Given the description of an element on the screen output the (x, y) to click on. 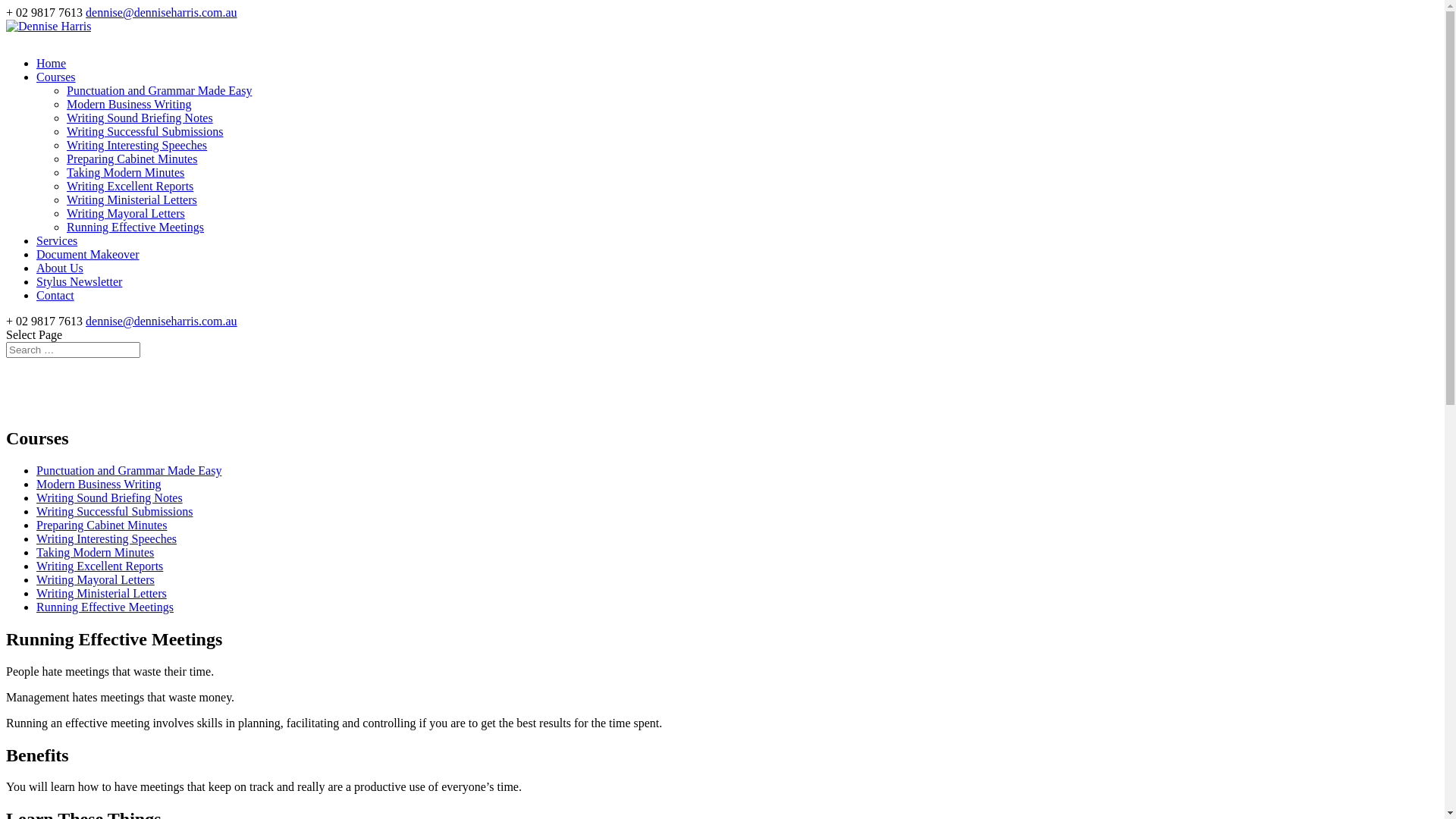
Preparing Cabinet Minutes Element type: text (101, 524)
Writing Sound Briefing Notes Element type: text (139, 117)
dennise@denniseharris.com.au Element type: text (161, 12)
Stylus Newsletter Element type: text (79, 287)
Writing Mayoral Letters Element type: text (125, 213)
Writing Excellent Reports Element type: text (99, 565)
Modern Business Writing Element type: text (98, 483)
Home Element type: text (50, 68)
Writing Mayoral Letters Element type: text (95, 579)
Writing Excellent Reports Element type: text (129, 185)
Punctuation and Grammar Made Easy Element type: text (128, 470)
dennise@denniseharris.com.au Element type: text (161, 320)
Writing Successful Submissions Element type: text (114, 511)
Writing Successful Submissions Element type: text (144, 131)
Services Element type: text (56, 246)
Taking Modern Minutes Element type: text (125, 172)
Writing Ministerial Letters Element type: text (101, 592)
Contact Element type: text (55, 300)
Modern Business Writing Element type: text (128, 103)
Writing Ministerial Letters Element type: text (131, 199)
Running Effective Meetings Element type: text (104, 606)
About Us Element type: text (59, 273)
Document Makeover Element type: text (87, 259)
Preparing Cabinet Minutes Element type: text (131, 158)
Writing Interesting Speeches Element type: text (136, 144)
Writing Interesting Speeches Element type: text (106, 538)
Running Effective Meetings Element type: text (134, 226)
Punctuation and Grammar Made Easy Element type: text (158, 90)
Writing Sound Briefing Notes Element type: text (109, 497)
Search for: Element type: hover (73, 349)
Taking Modern Minutes Element type: text (94, 552)
Courses Element type: text (55, 82)
